Given the description of an element on the screen output the (x, y) to click on. 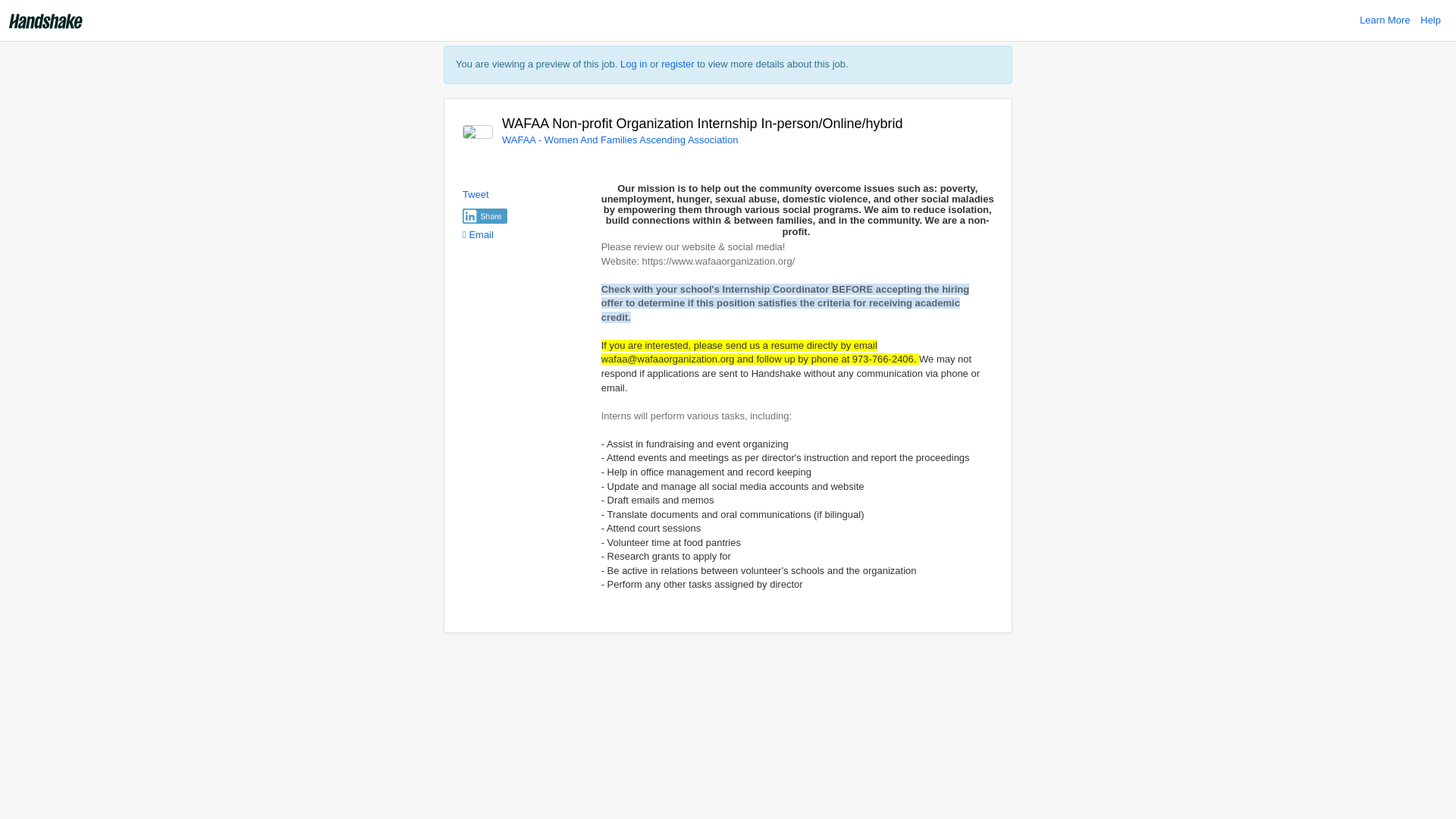
register (677, 63)
Learn More (1384, 19)
Share (484, 215)
Log in (633, 63)
WAFAA - Women And Families Ascending Association (620, 139)
Tweet (476, 194)
Email (478, 234)
Share by Email (478, 234)
Help (1431, 19)
